Given the description of an element on the screen output the (x, y) to click on. 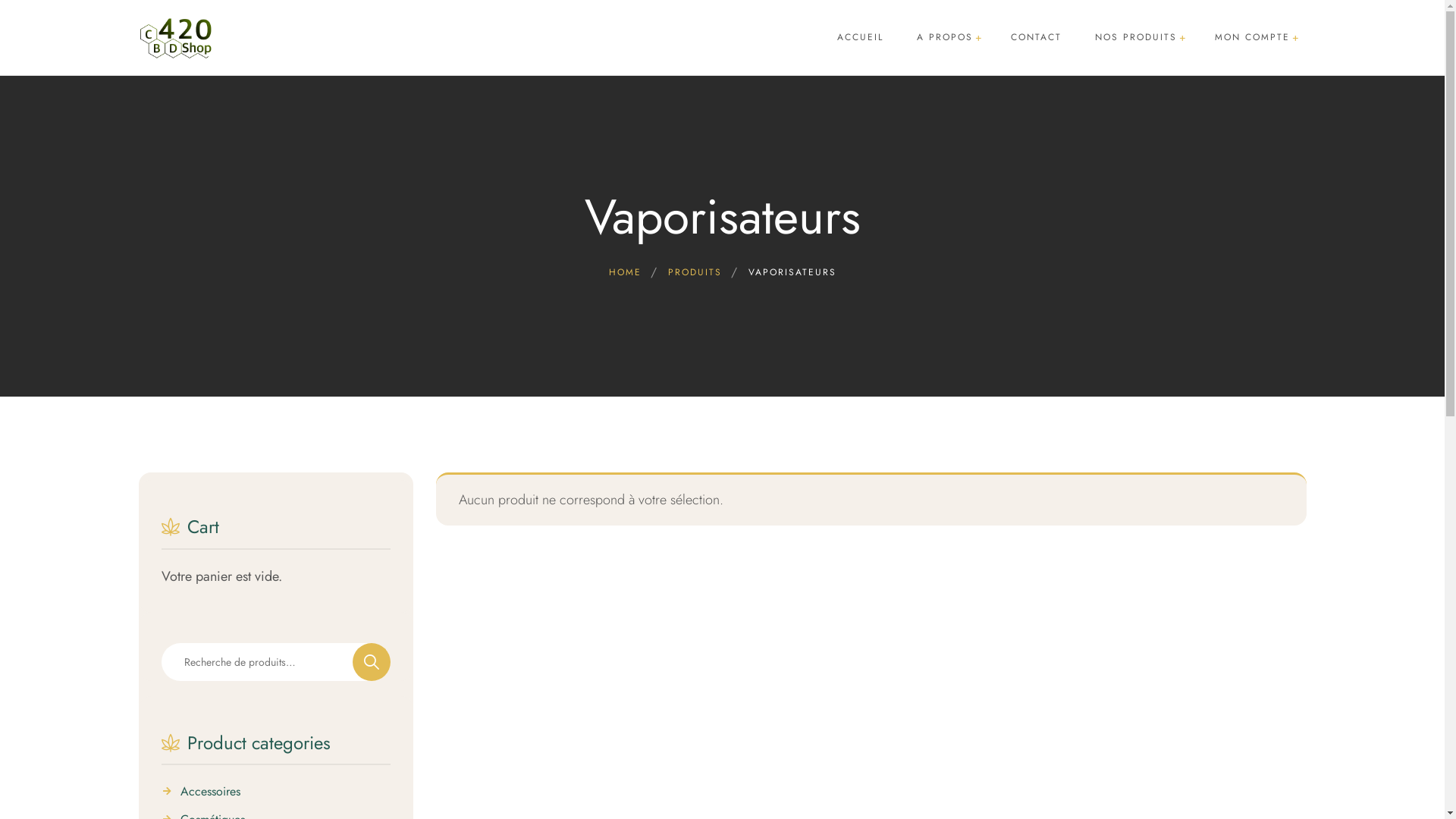
A PROPOS Element type: text (943, 37)
NOS PRODUITS Element type: text (1135, 37)
PRODUITS Element type: text (694, 272)
ACCUEIL Element type: text (860, 37)
Accessoires Element type: text (210, 795)
HOME Element type: text (624, 272)
CONTACT Element type: text (1035, 37)
MON COMPTE Element type: text (1252, 37)
Recherche Element type: text (371, 661)
